Given the description of an element on the screen output the (x, y) to click on. 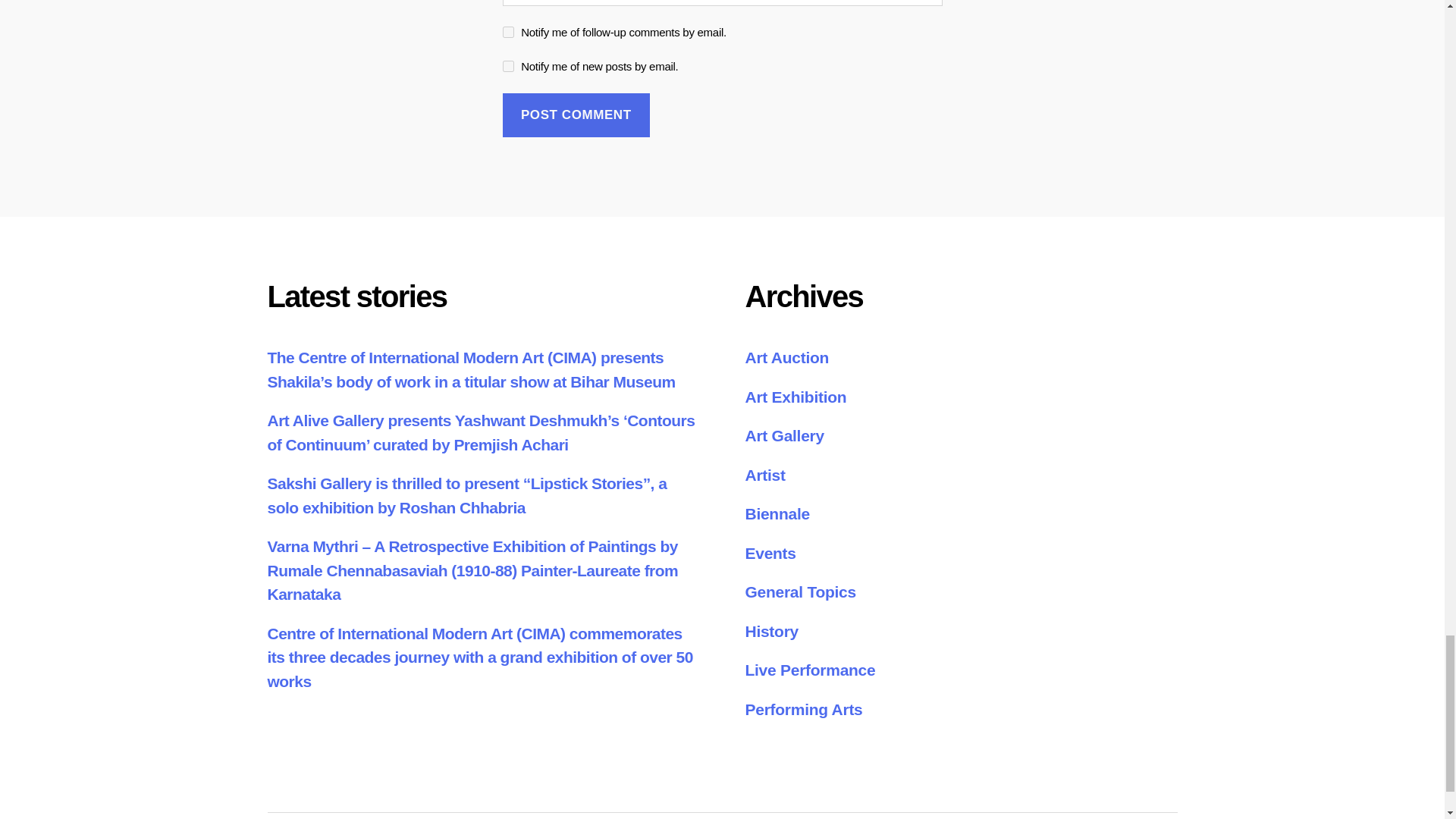
Post Comment (575, 115)
subscribe (507, 31)
Post Comment (575, 115)
subscribe (507, 66)
